Given the description of an element on the screen output the (x, y) to click on. 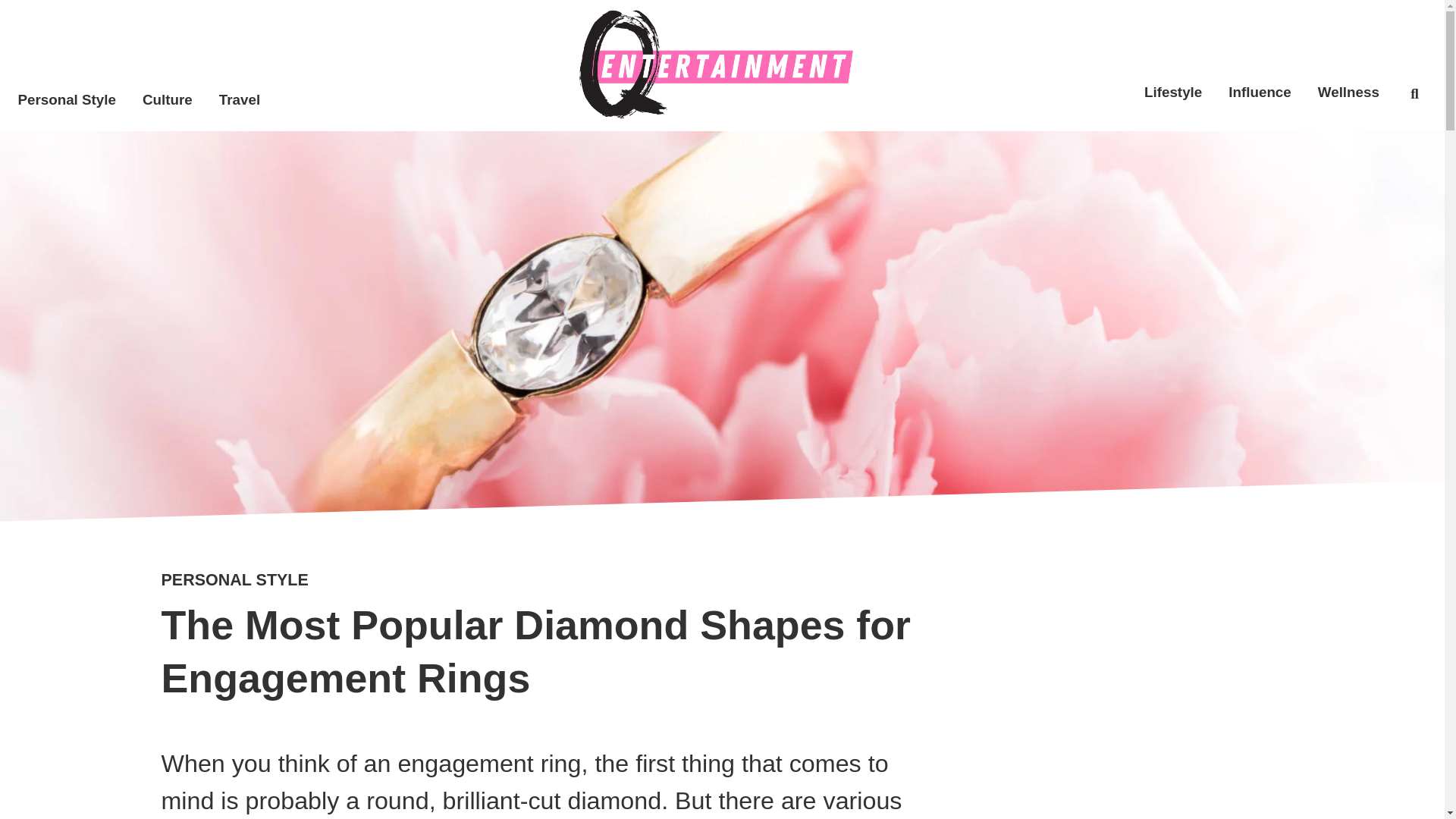
Lifestyle (1173, 92)
PERSONAL STYLE (233, 579)
Personal Style (66, 99)
Influence (1259, 92)
Wellness (1347, 92)
